Given the description of an element on the screen output the (x, y) to click on. 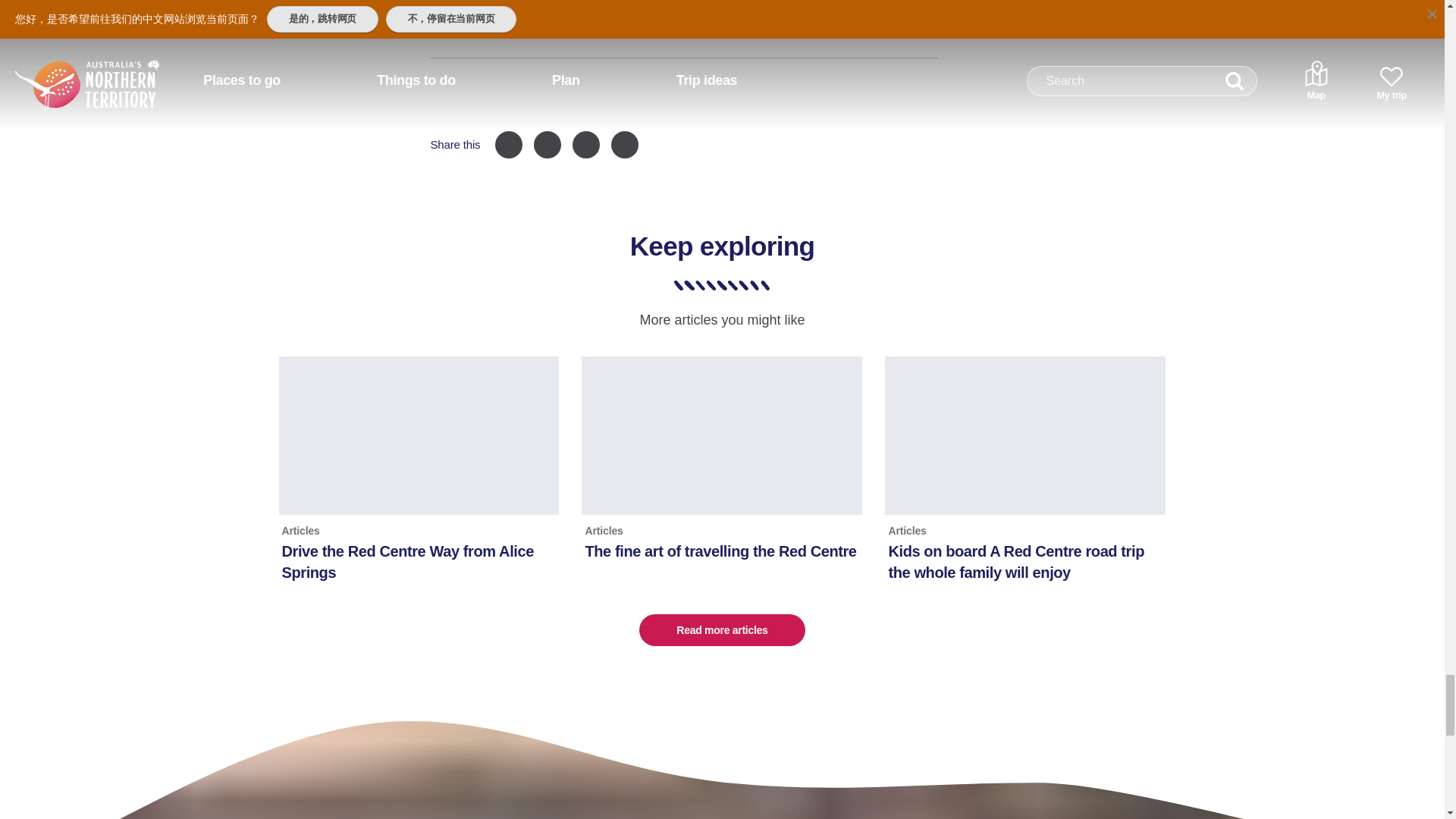
Pinterest (547, 144)
Twitter (585, 144)
Facebook (508, 144)
